Given the description of an element on the screen output the (x, y) to click on. 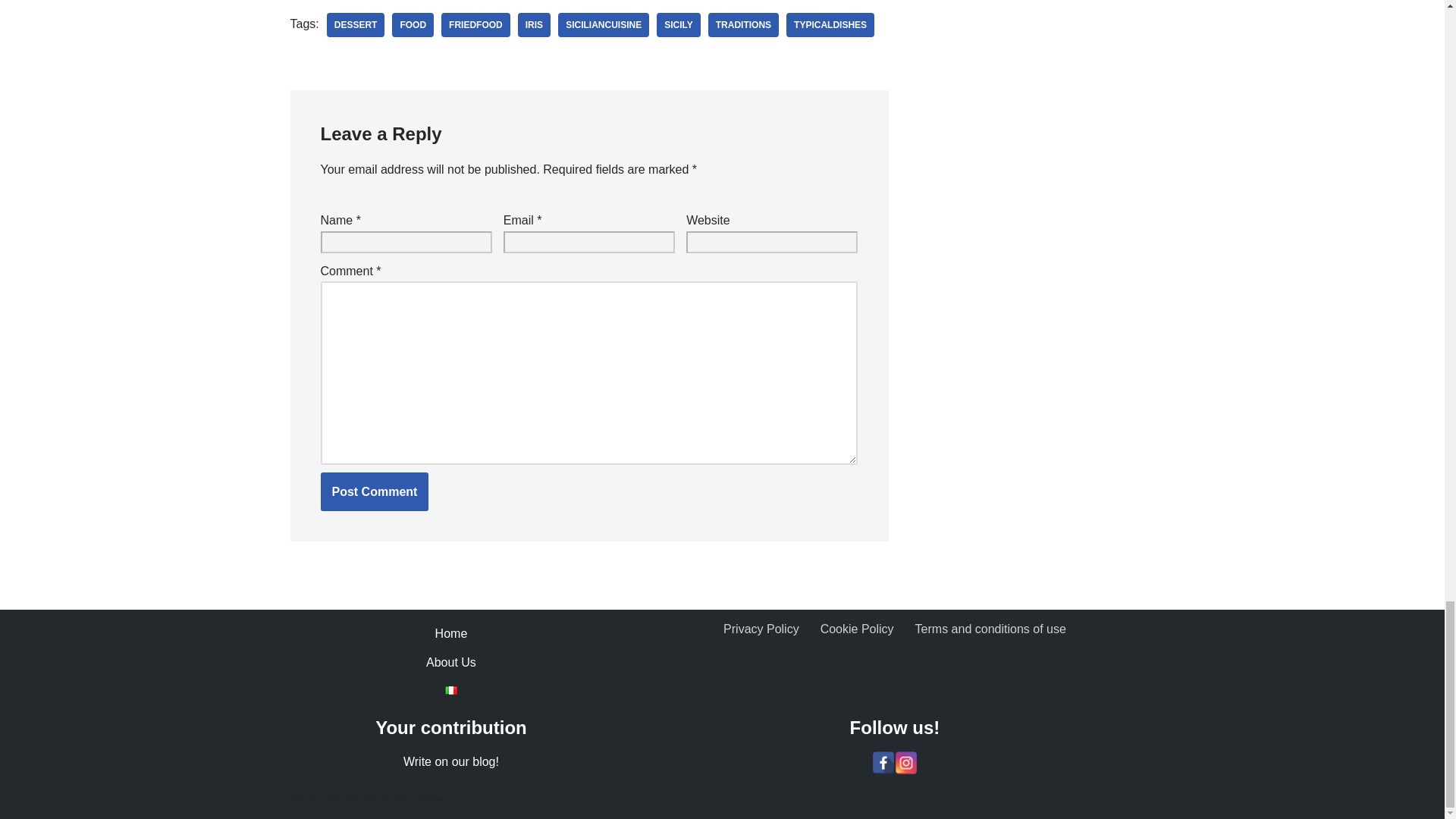
dessert (355, 24)
traditions (742, 24)
iris (534, 24)
Instagram (906, 762)
Post Comment (374, 491)
Facebook (883, 762)
food (412, 24)
siciliancuisine (603, 24)
sicily (678, 24)
typicaldishes (830, 24)
friedfood (476, 24)
